Given the description of an element on the screen output the (x, y) to click on. 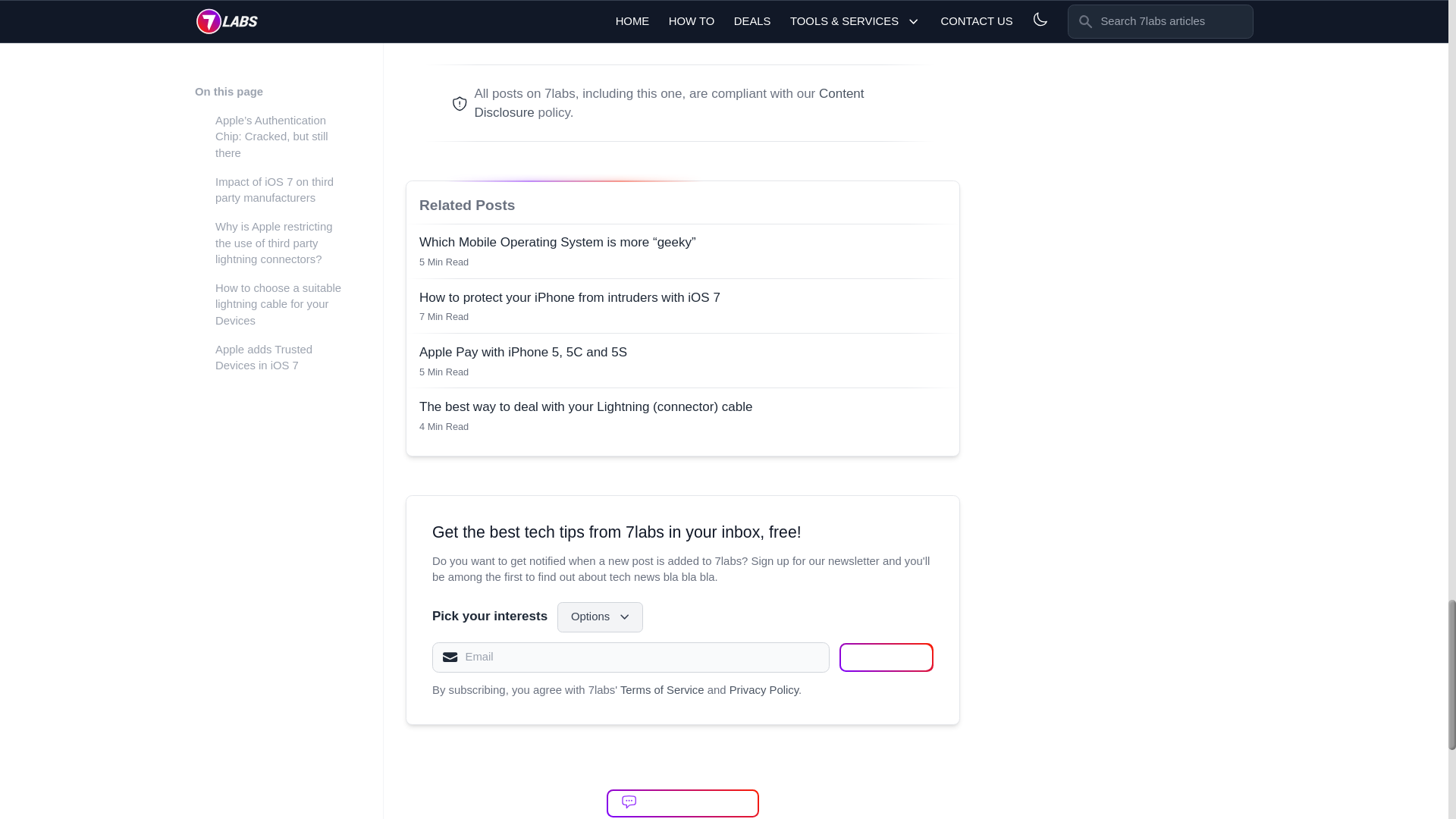
SHOW COMMENTS (682, 803)
SUBSCRIBE (886, 656)
Options (600, 616)
Privacy Policy (763, 689)
Content Disclosure (668, 103)
Terms of Service (662, 689)
